Given the description of an element on the screen output the (x, y) to click on. 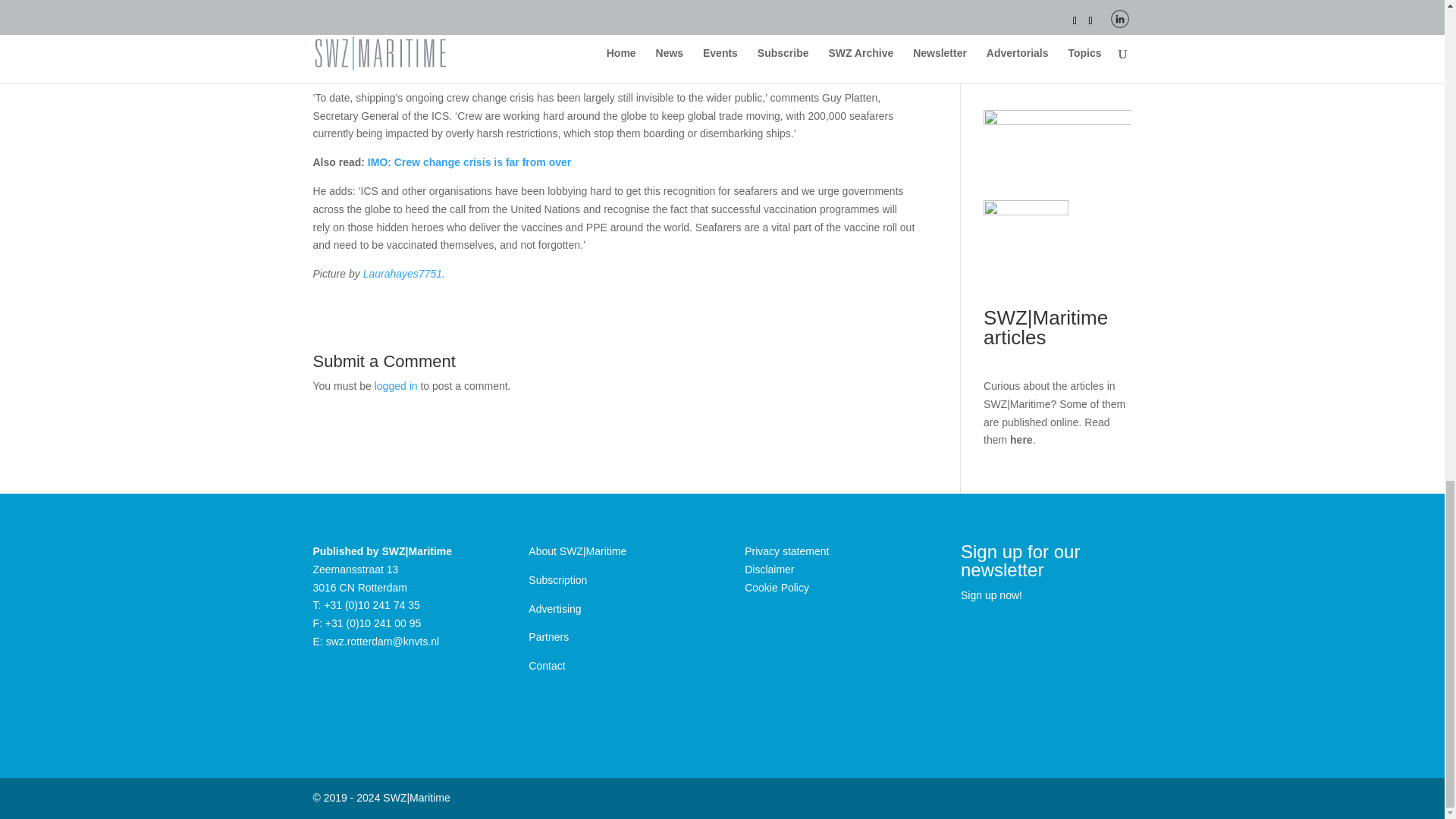
Laurahayes7751 (402, 273)
IMO: Crew change crisis is far from over (469, 162)
logged in (395, 386)
here (1021, 439)
